Given the description of an element on the screen output the (x, y) to click on. 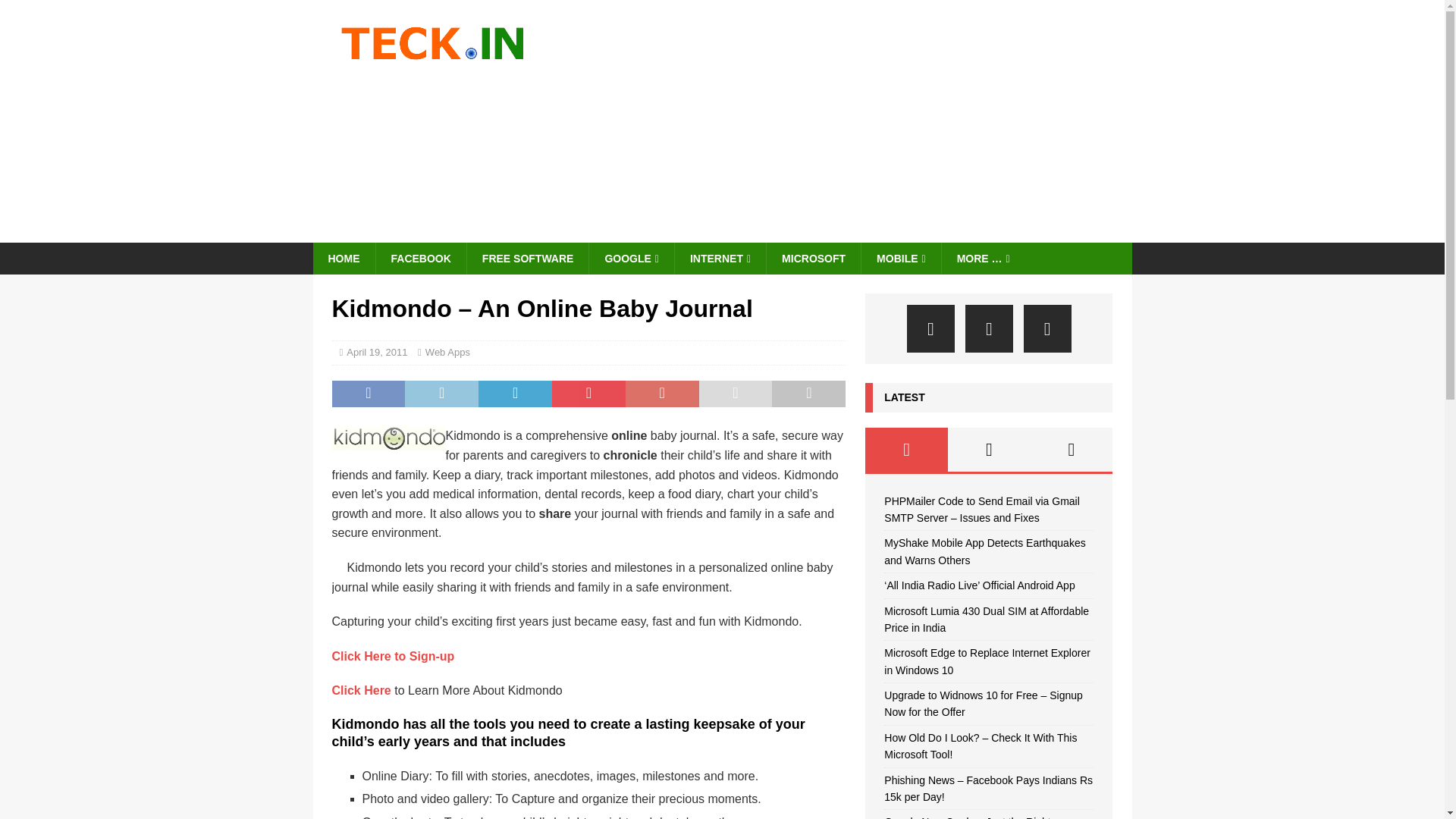
FACEBOOK (419, 258)
FREE SOFTWARE (527, 258)
GOOGLE (631, 258)
HOME (343, 258)
Advertisement (854, 121)
INTERNET (719, 258)
